Given the description of an element on the screen output the (x, y) to click on. 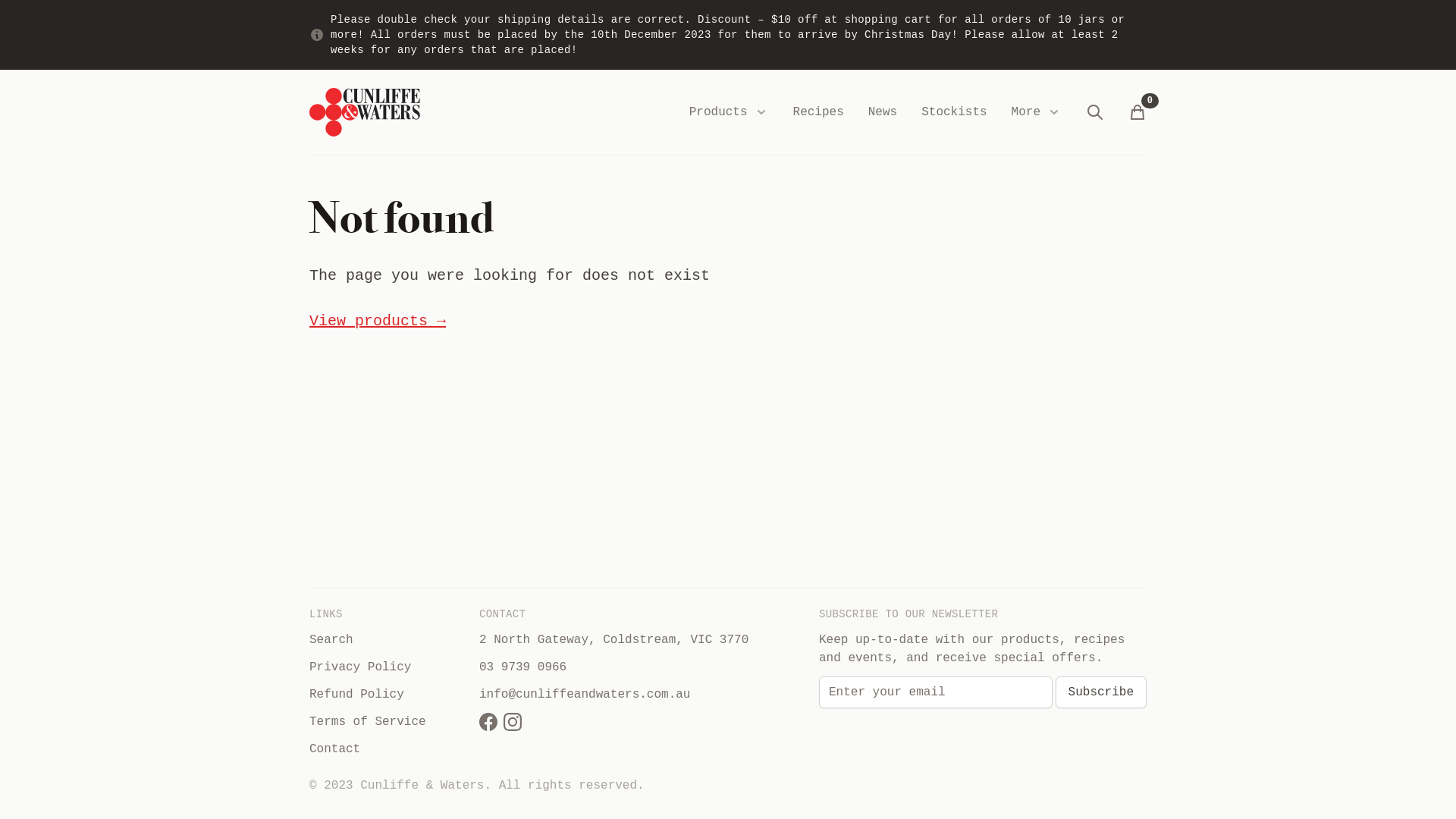
03 9739 0966 Element type: text (522, 667)
Recipes Element type: text (818, 112)
News Element type: text (882, 112)
Terms of Service Element type: text (388, 721)
info@cunliffeandwaters.com.au Element type: text (584, 694)
Facebook Element type: text (488, 721)
Search Element type: text (388, 639)
Privacy Policy Element type: text (388, 667)
Contact Element type: text (388, 749)
Instagram Element type: text (512, 721)
Products Element type: text (728, 112)
Search Element type: text (1094, 112)
2 North Gateway, Coldstream, VIC 3770 Element type: text (613, 639)
Stockists Element type: text (953, 112)
Refund Policy Element type: text (388, 694)
More Element type: text (1036, 112)
Subscribe Element type: text (1100, 692)
Cart
0 Element type: text (1137, 112)
